Given the description of an element on the screen output the (x, y) to click on. 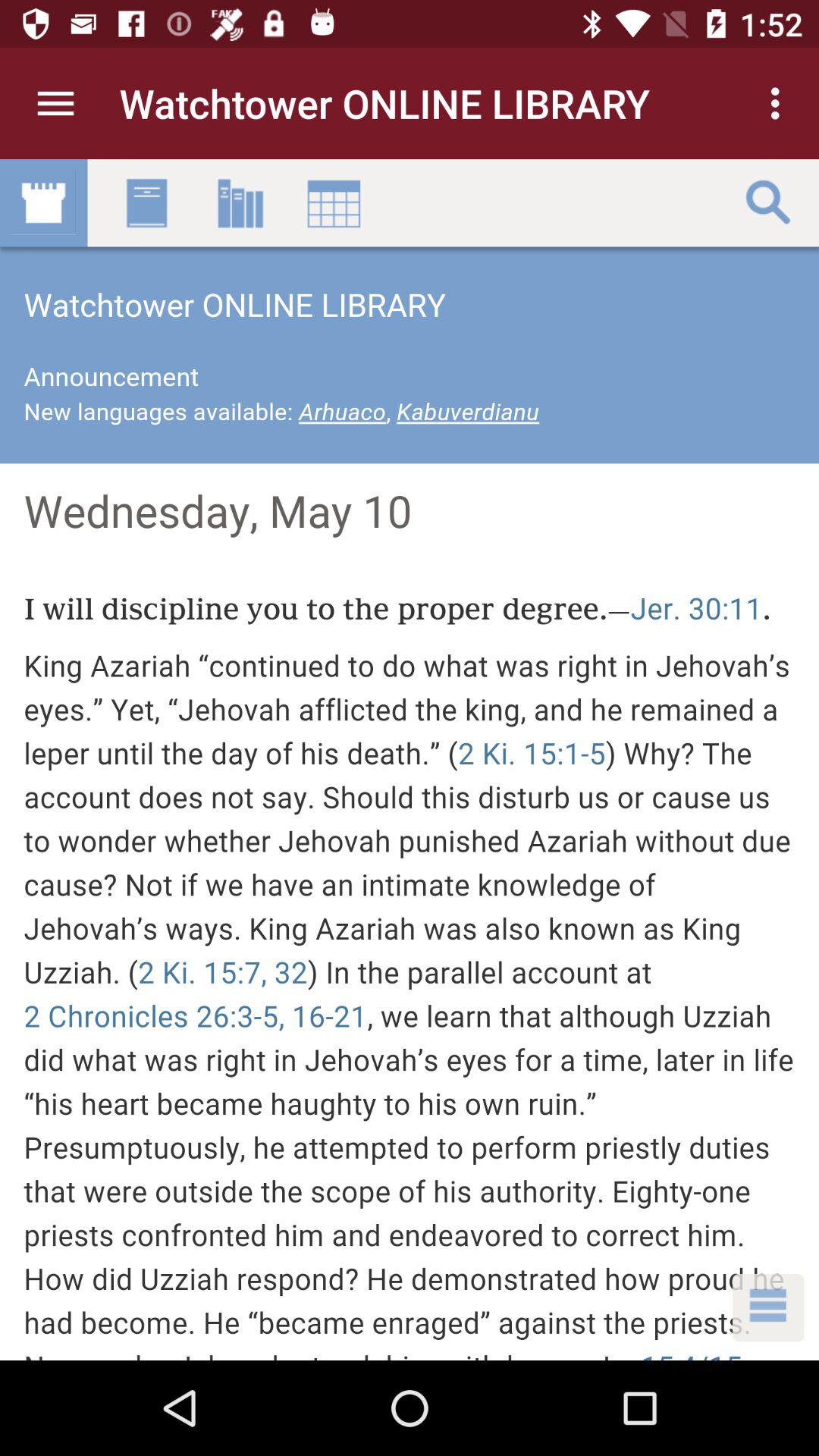
read article (409, 759)
